Given the description of an element on the screen output the (x, y) to click on. 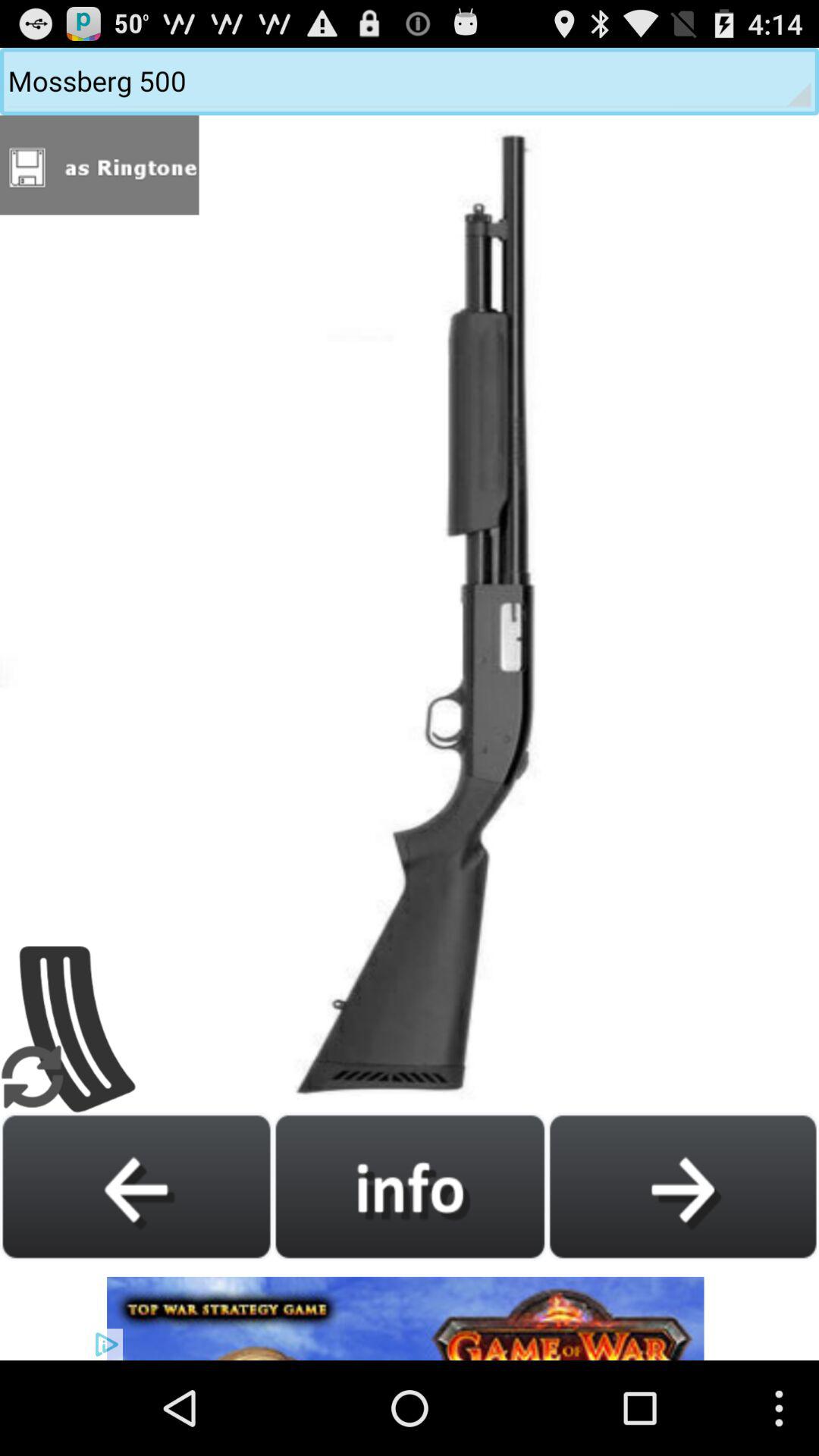
view information (410, 1186)
